Given the description of an element on the screen output the (x, y) to click on. 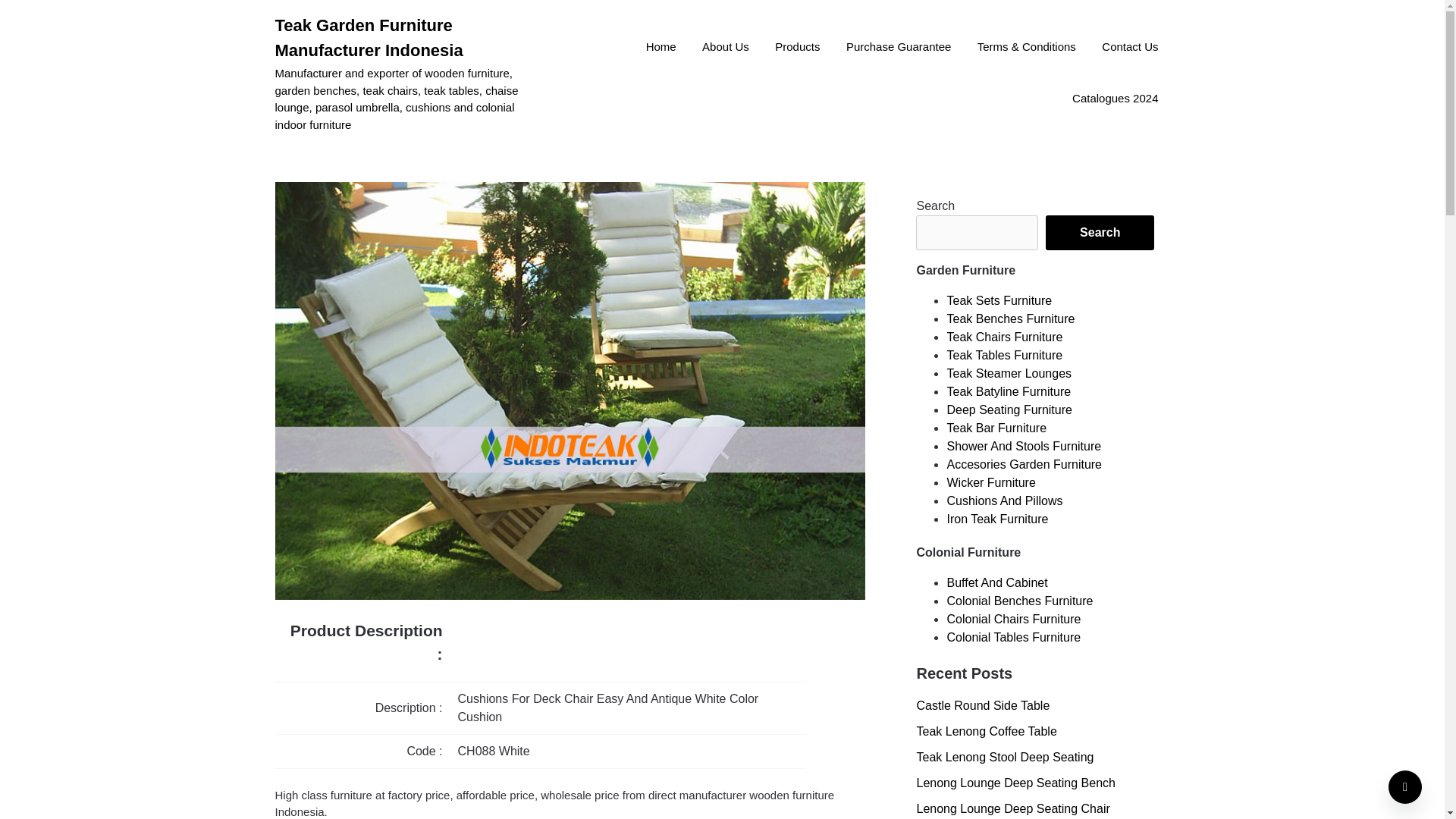
To Top (1405, 786)
Purchase Guarantee (898, 47)
About Us (725, 47)
Contact Us (1129, 47)
Products (796, 47)
Teak Garden Furniture Manufacturer Indonesia (409, 38)
Home (660, 47)
Catalogues 2024 (1115, 98)
